Given the description of an element on the screen output the (x, y) to click on. 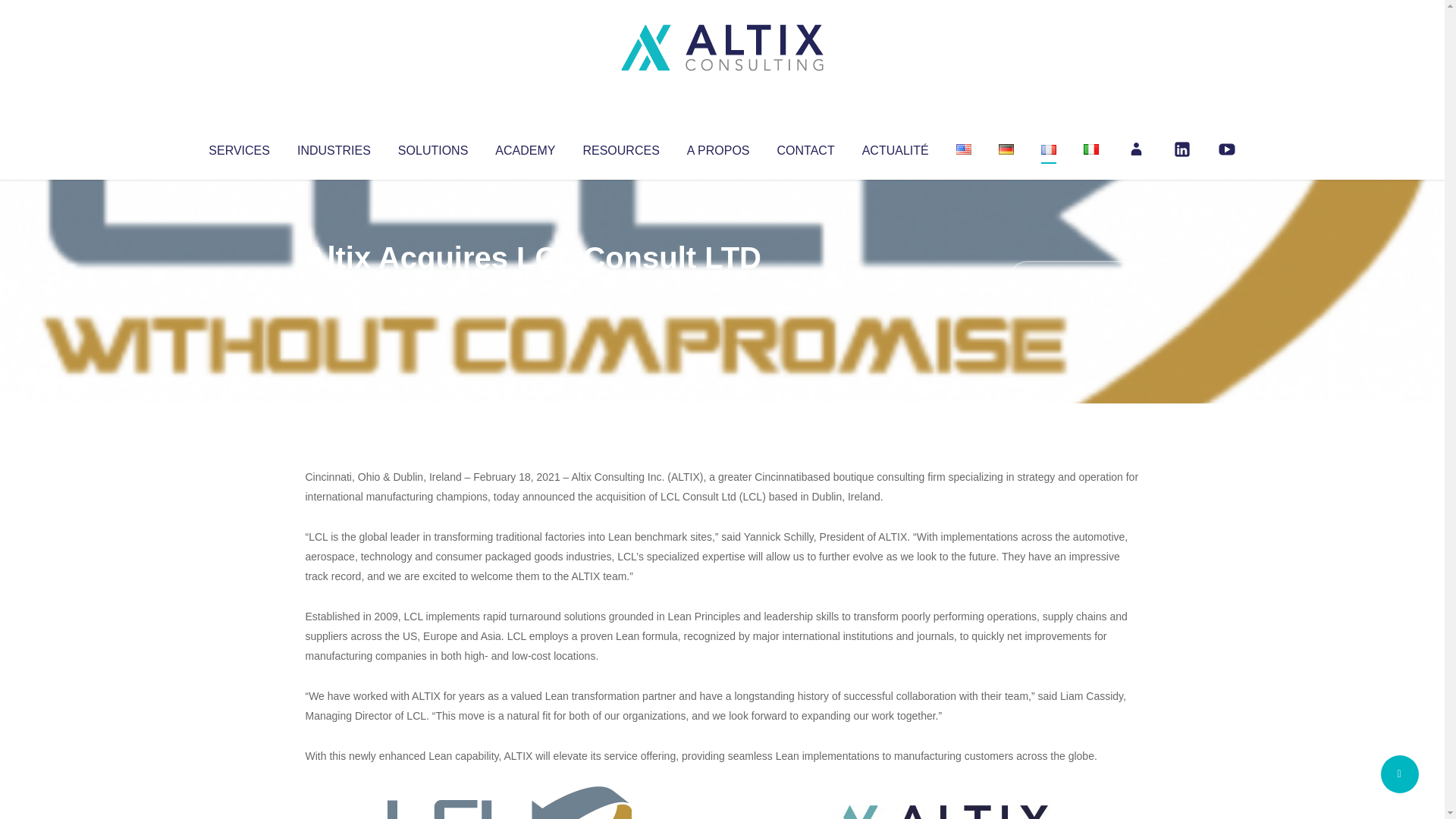
ACADEMY (524, 146)
Altix (333, 287)
INDUSTRIES (334, 146)
SERVICES (238, 146)
No Comments (1073, 278)
Uncategorized (530, 287)
A PROPOS (718, 146)
SOLUTIONS (432, 146)
Articles par Altix (333, 287)
RESOURCES (620, 146)
